Given the description of an element on the screen output the (x, y) to click on. 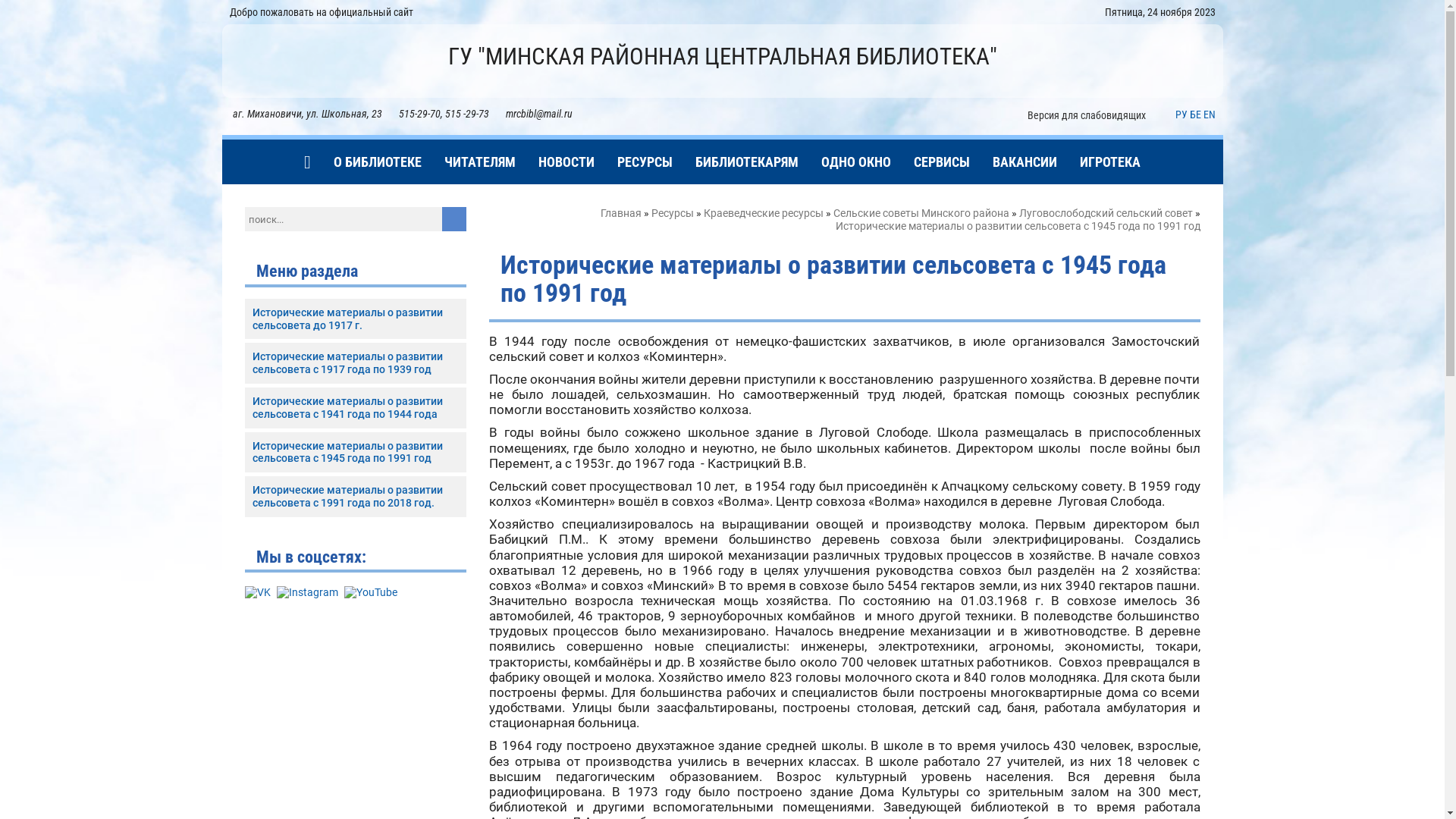
EN Element type: text (1208, 114)
YouTube Element type: hover (370, 592)
Instagram Element type: hover (306, 592)
